Given the description of an element on the screen output the (x, y) to click on. 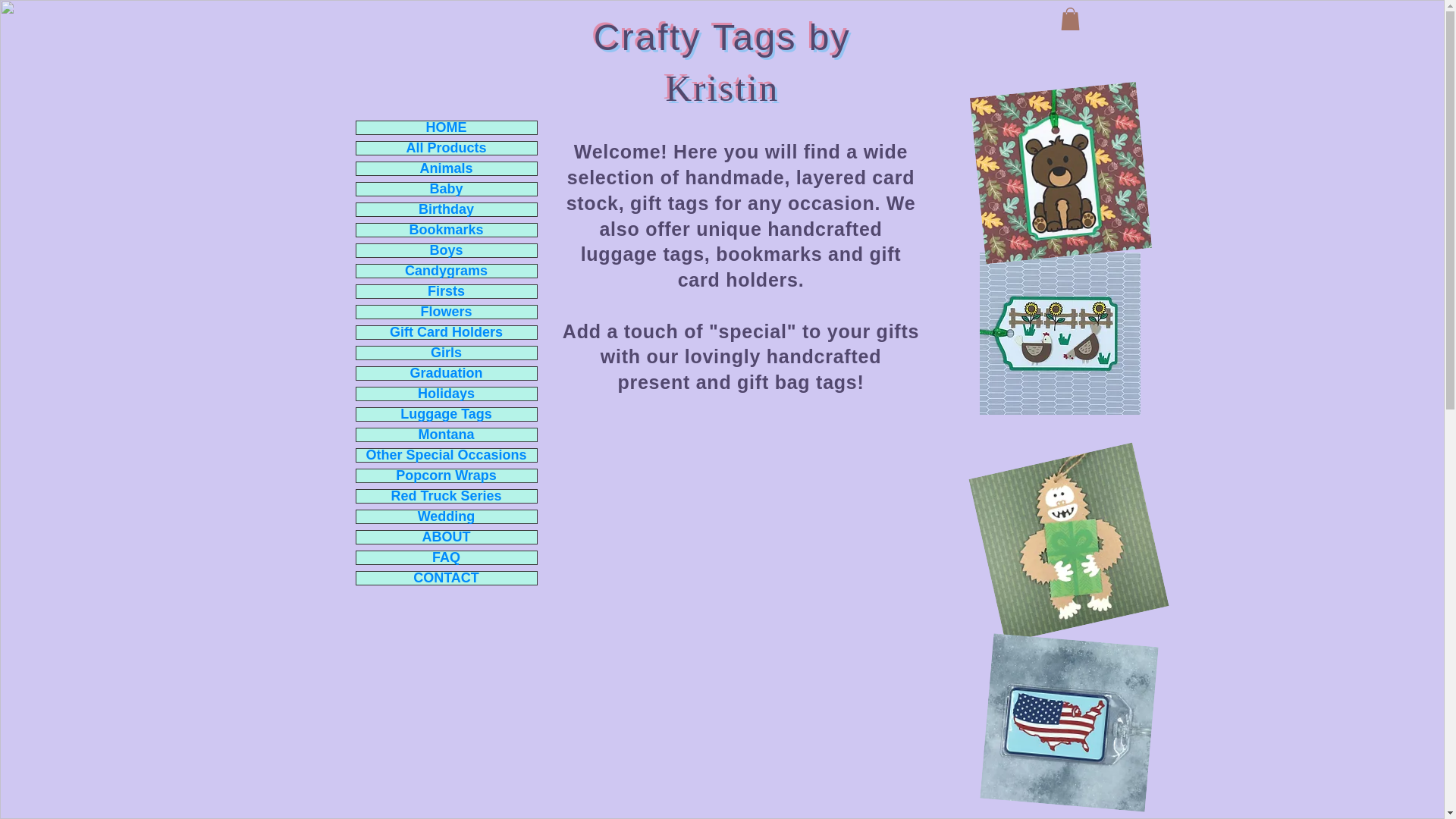
Luggage Tags (446, 413)
Baby (446, 188)
All Products (446, 147)
Other Special Occasions (446, 454)
Bookmarks (446, 229)
Birthday (446, 209)
Firsts (446, 291)
Graduation (446, 373)
Popcorn Wraps (446, 475)
Candygrams (446, 270)
